Given the description of an element on the screen output the (x, y) to click on. 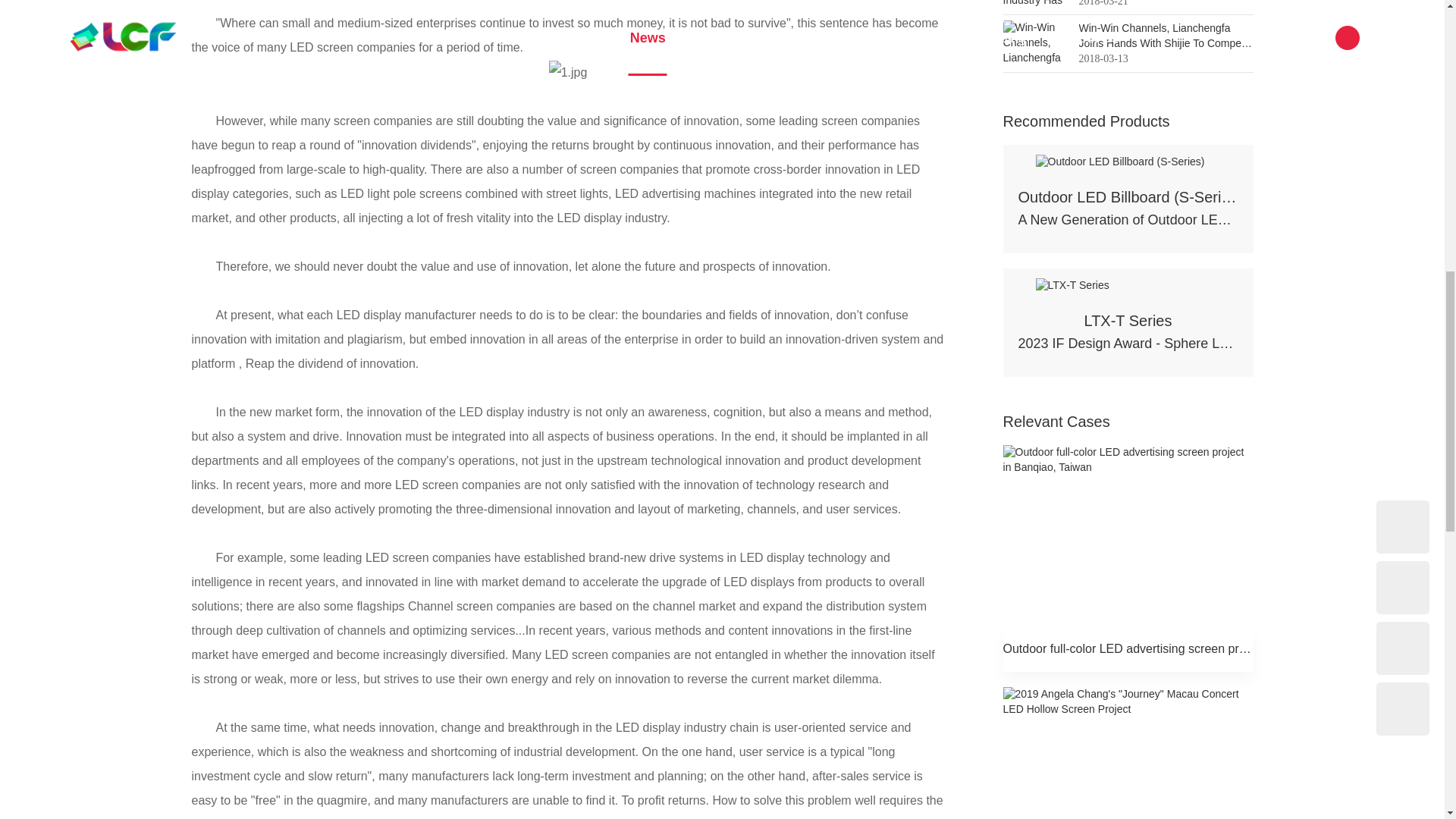
LTX-T Series (1072, 285)
1.jpg (568, 72)
